Given the description of an element on the screen output the (x, y) to click on. 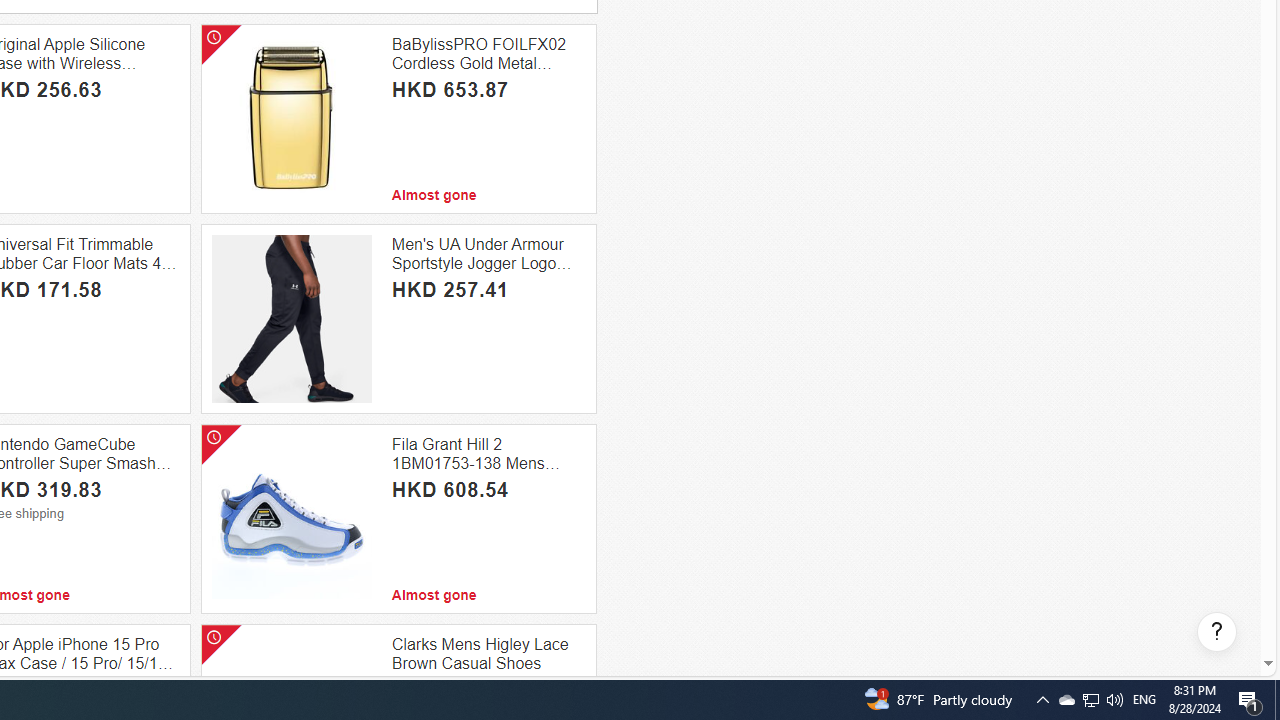
Clarks Mens Higley Lace Brown Casual Shoes (488, 654)
Help, opens dialogs (1217, 632)
